Given the description of an element on the screen output the (x, y) to click on. 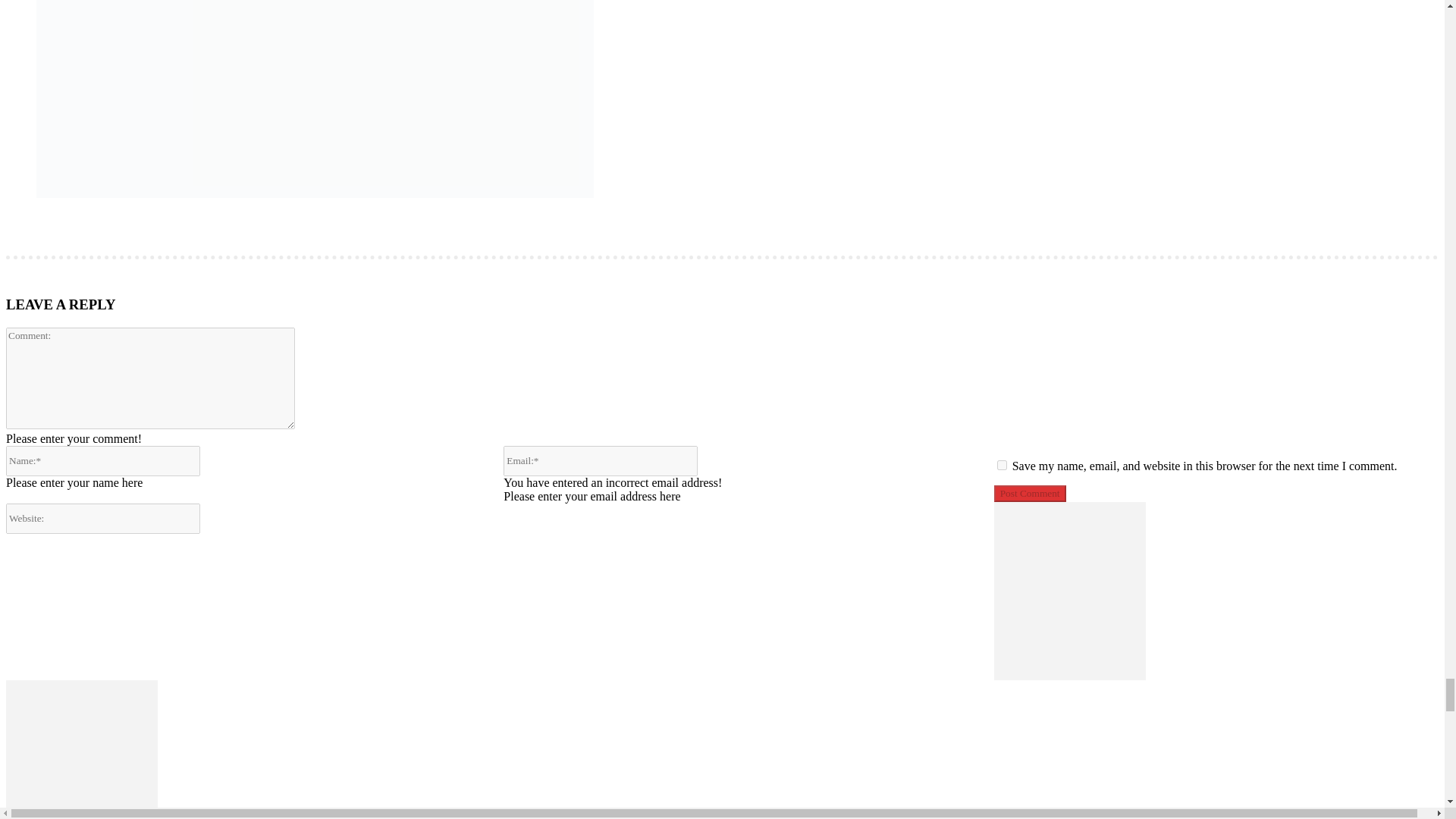
yes (1002, 465)
Post Comment (1029, 493)
